Given the description of an element on the screen output the (x, y) to click on. 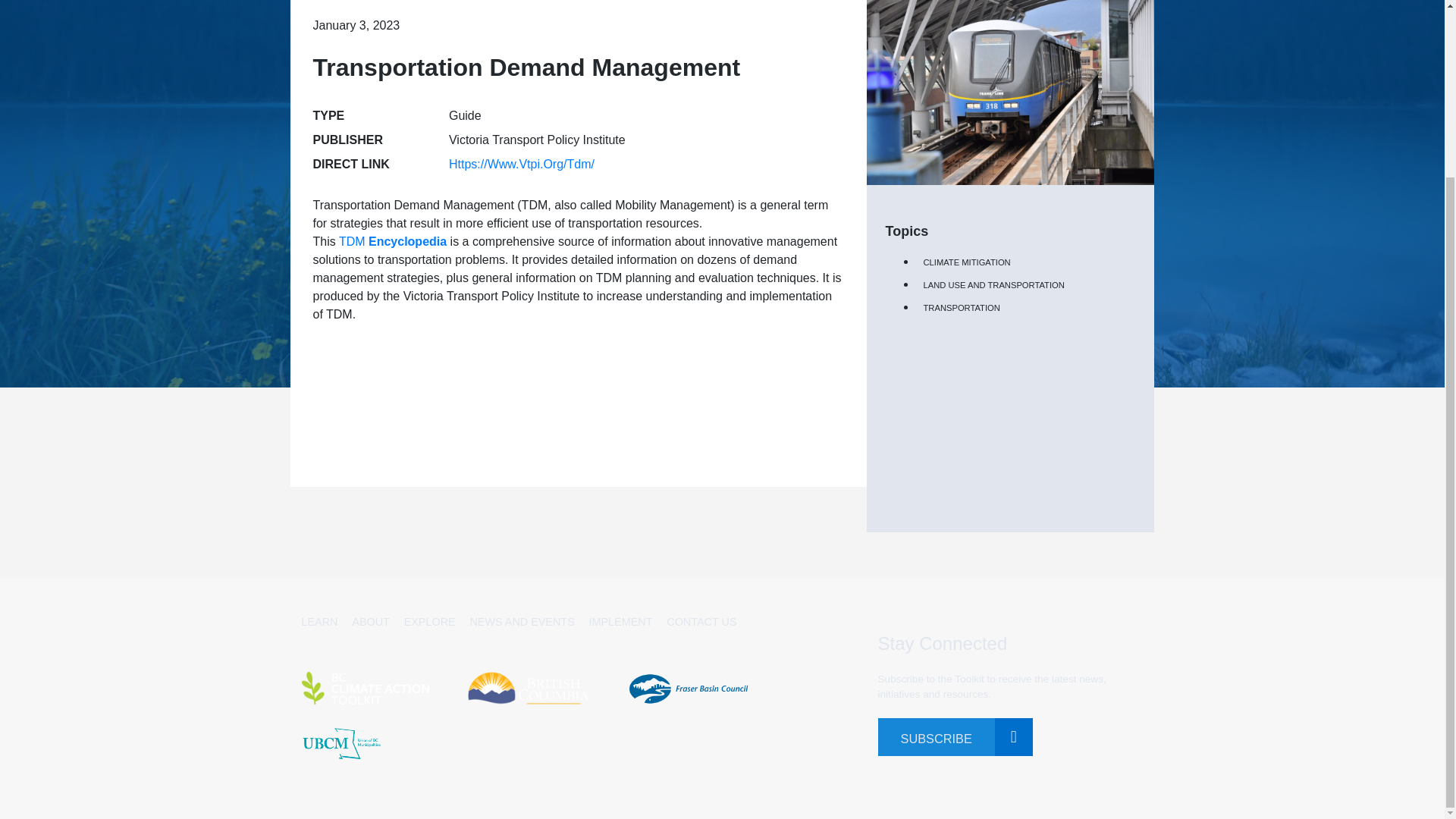
ABOUT (371, 621)
TDM Encyclopedia (392, 241)
IMPLEMENT (620, 621)
SUBSCRIBE (935, 736)
NEWS AND EVENTS (520, 621)
CONTACT US (701, 621)
EXPLORE (429, 621)
LEARN (319, 621)
